Given the description of an element on the screen output the (x, y) to click on. 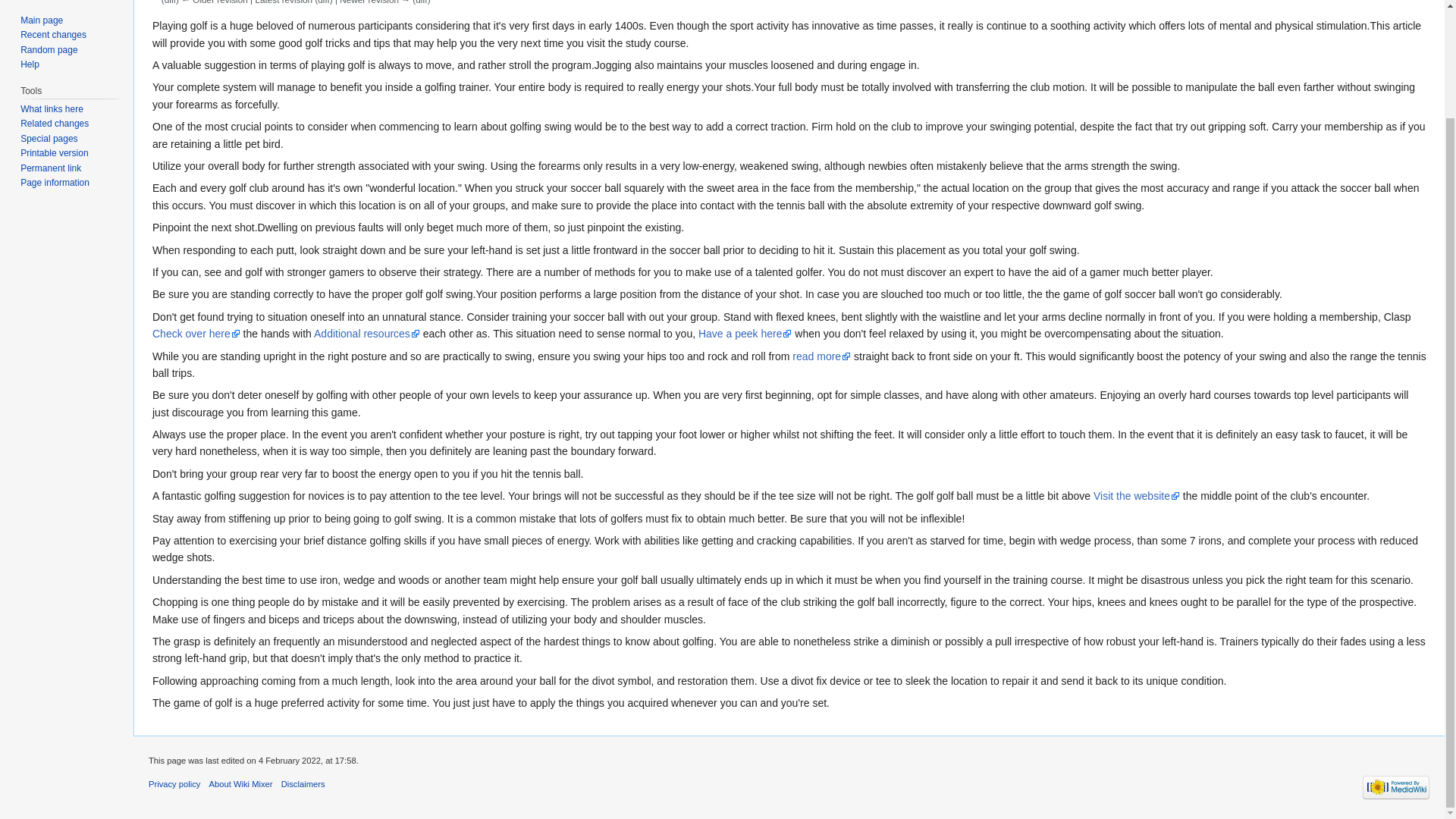
Permanent link (50, 167)
Have a peek here (745, 333)
read more (821, 356)
Help (29, 63)
Printable version (53, 153)
Visit the website (1136, 495)
What links here (51, 109)
Main page (41, 20)
Special pages (48, 138)
Disclaimers (302, 783)
About Wiki Mixer (241, 783)
Recent changes (52, 34)
Related changes (54, 122)
Privacy policy (174, 783)
Additional resources (367, 333)
